Given the description of an element on the screen output the (x, y) to click on. 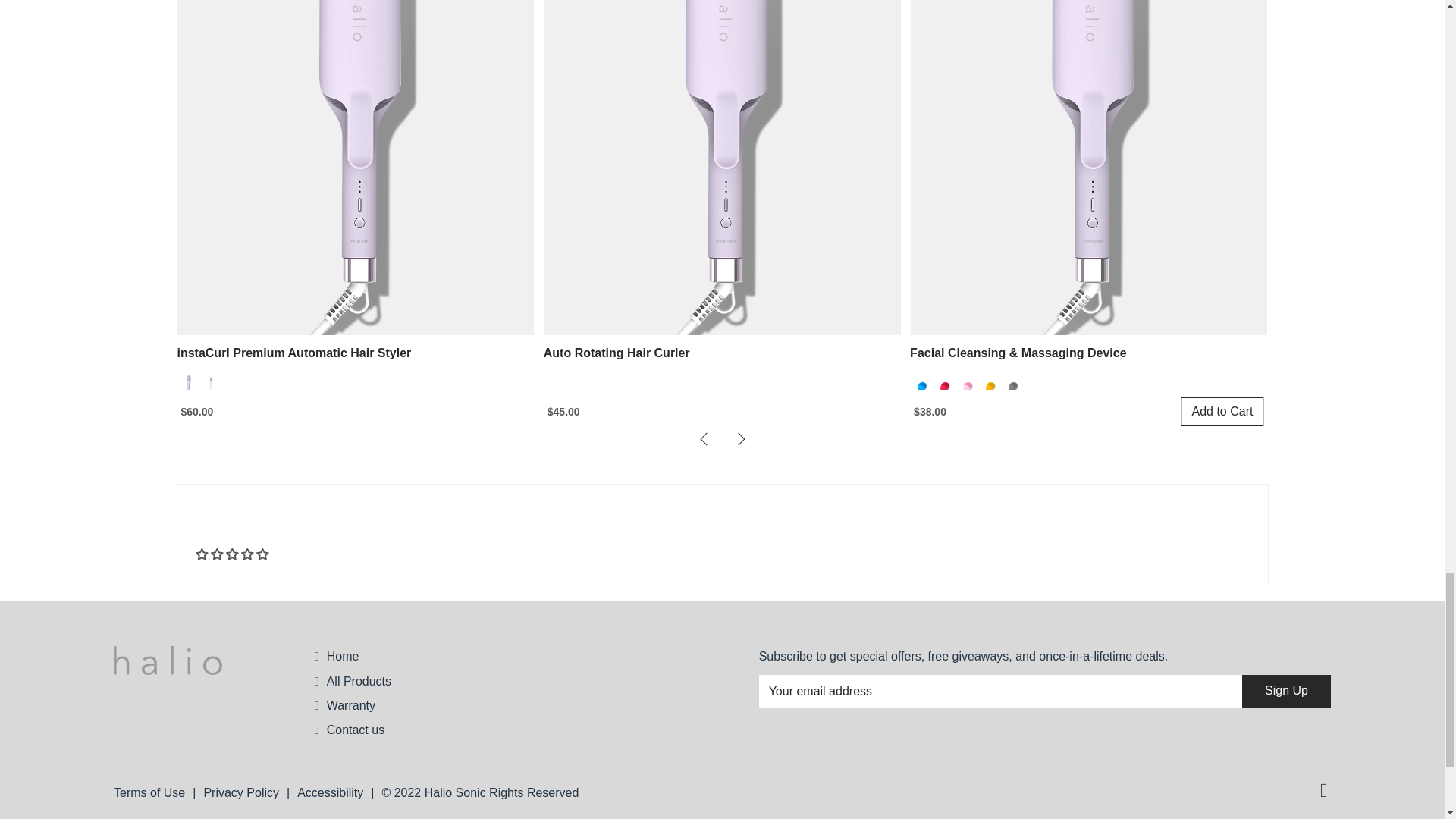
Instagram (1325, 792)
